Given the description of an element on the screen output the (x, y) to click on. 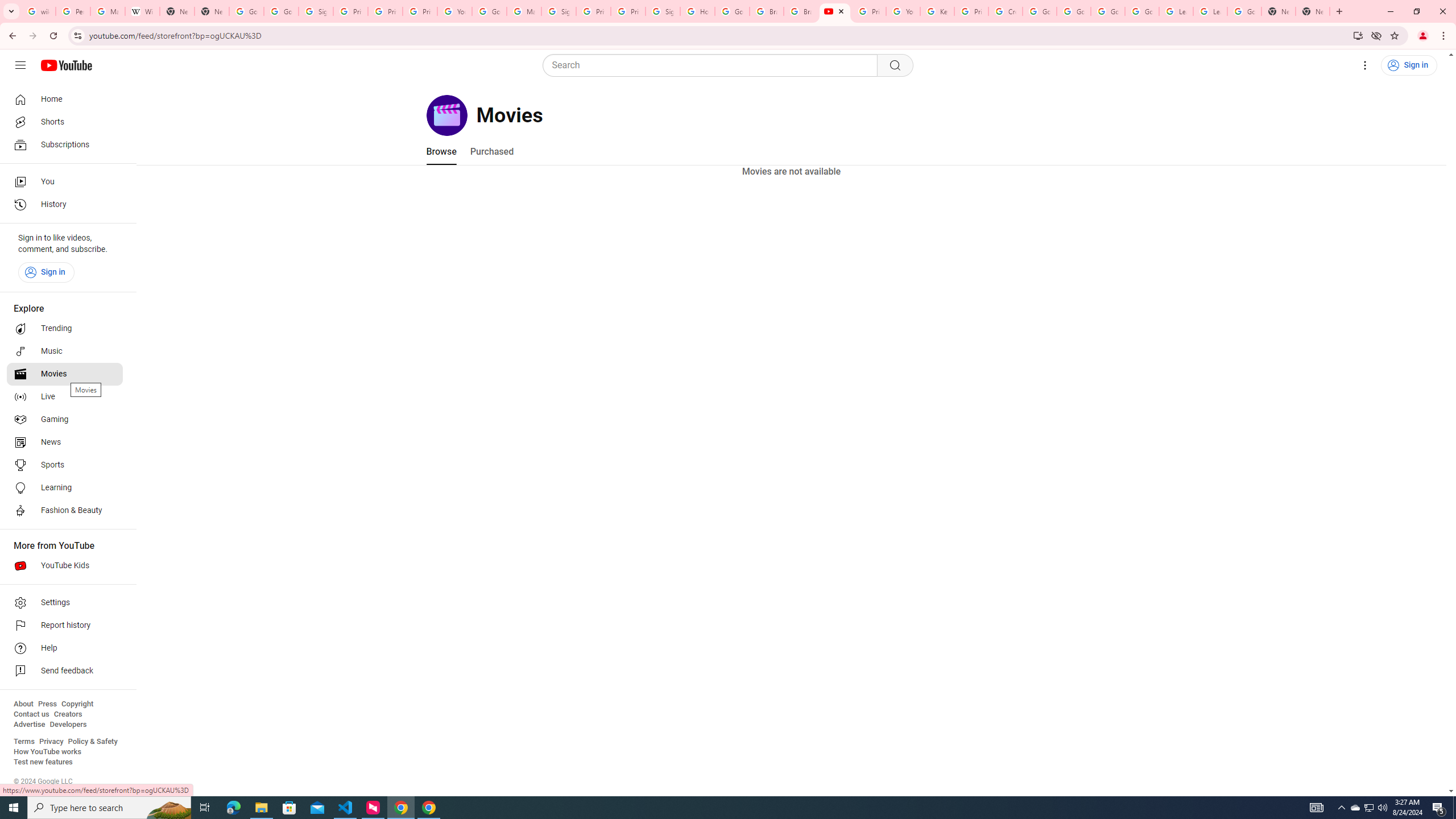
News (64, 441)
Music (64, 350)
Browse (441, 151)
Developers (68, 724)
Creators (67, 714)
Shorts (64, 121)
Learning (64, 487)
Google Drive: Sign-in (281, 11)
Sign in - Google Accounts (557, 11)
Wikipedia:Edit requests - Wikipedia (141, 11)
Policy & Safety (91, 741)
